Given the description of an element on the screen output the (x, y) to click on. 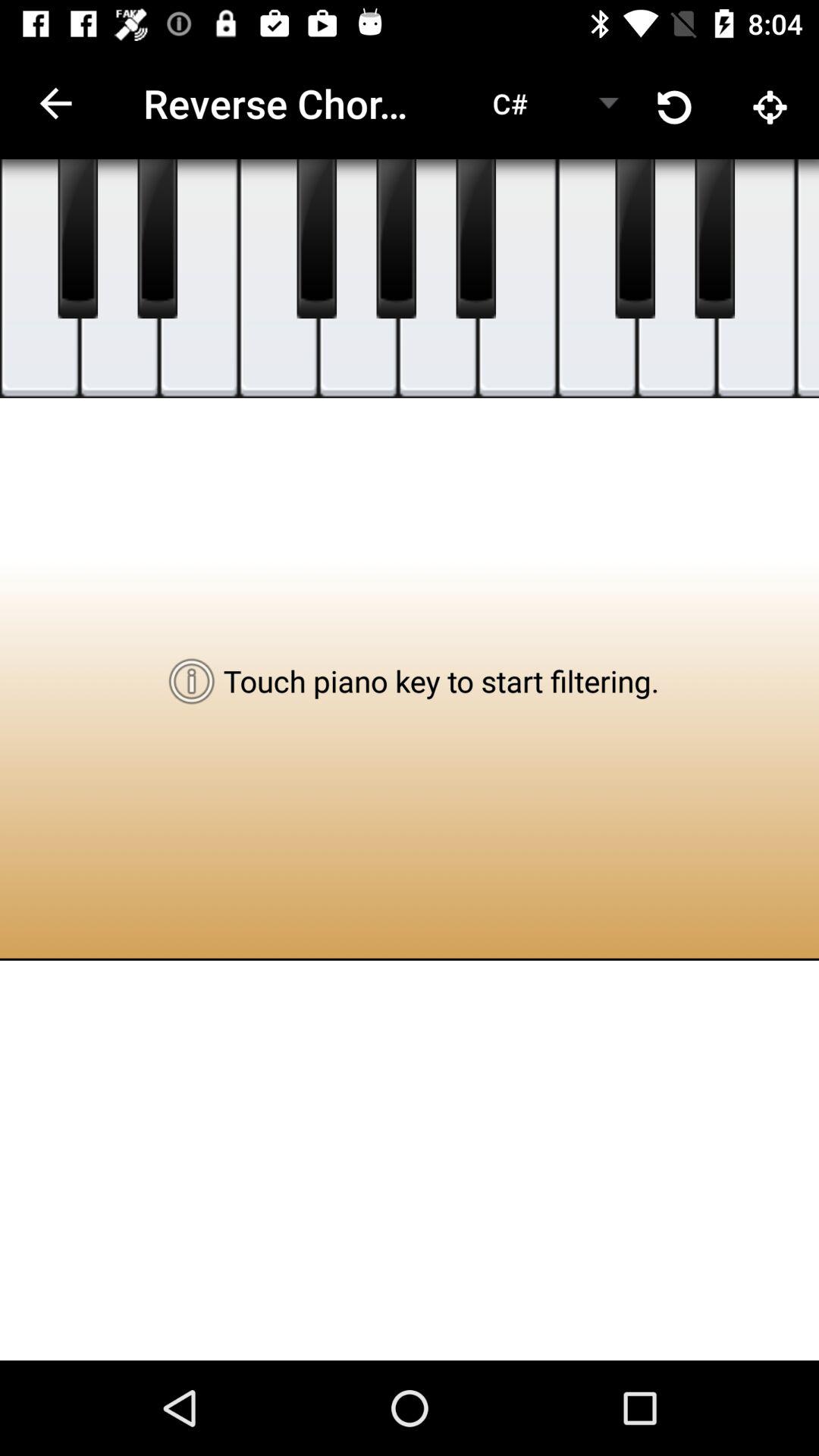
piano key button (119, 278)
